Given the description of an element on the screen output the (x, y) to click on. 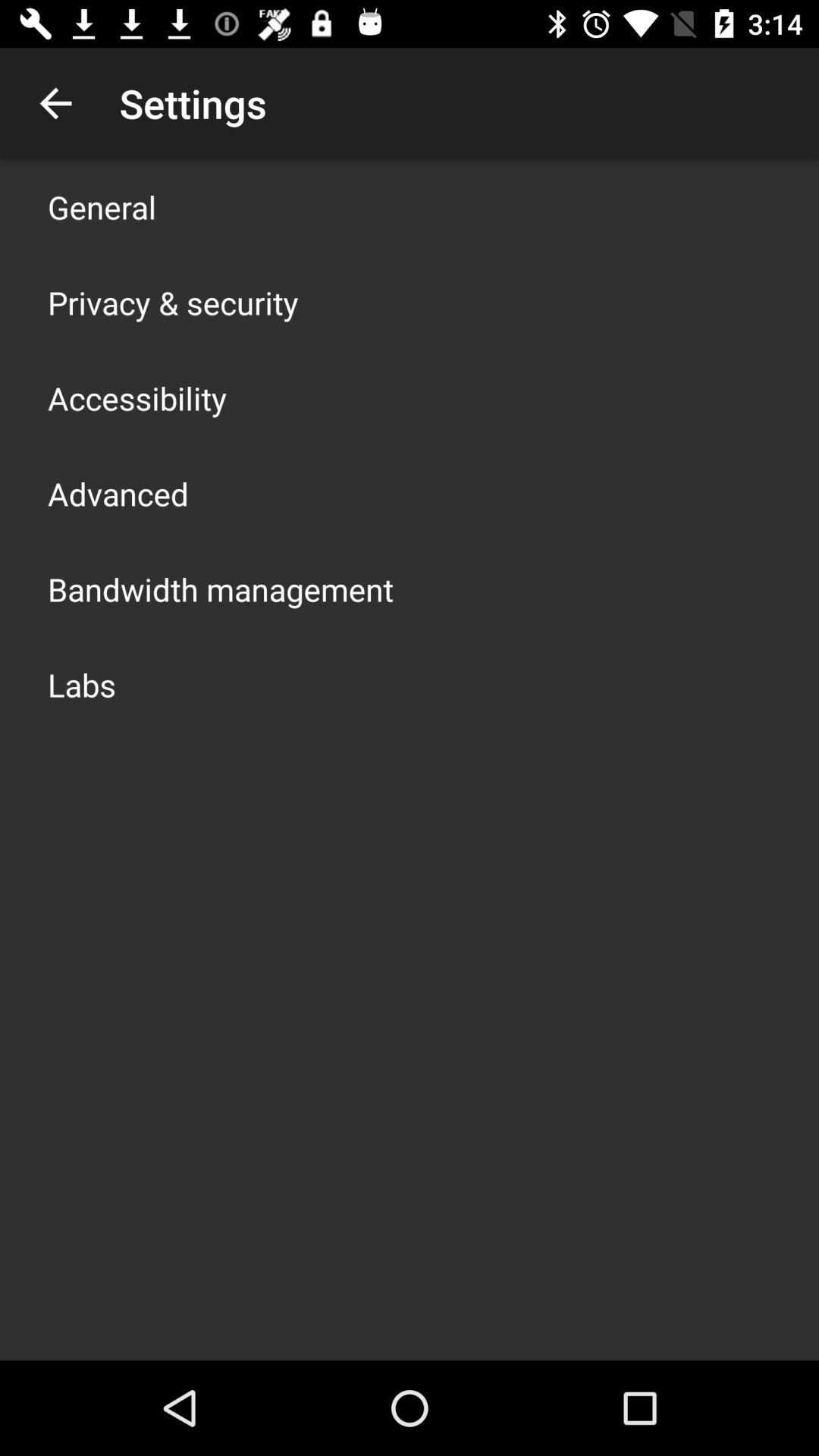
flip to advanced icon (117, 493)
